Given the description of an element on the screen output the (x, y) to click on. 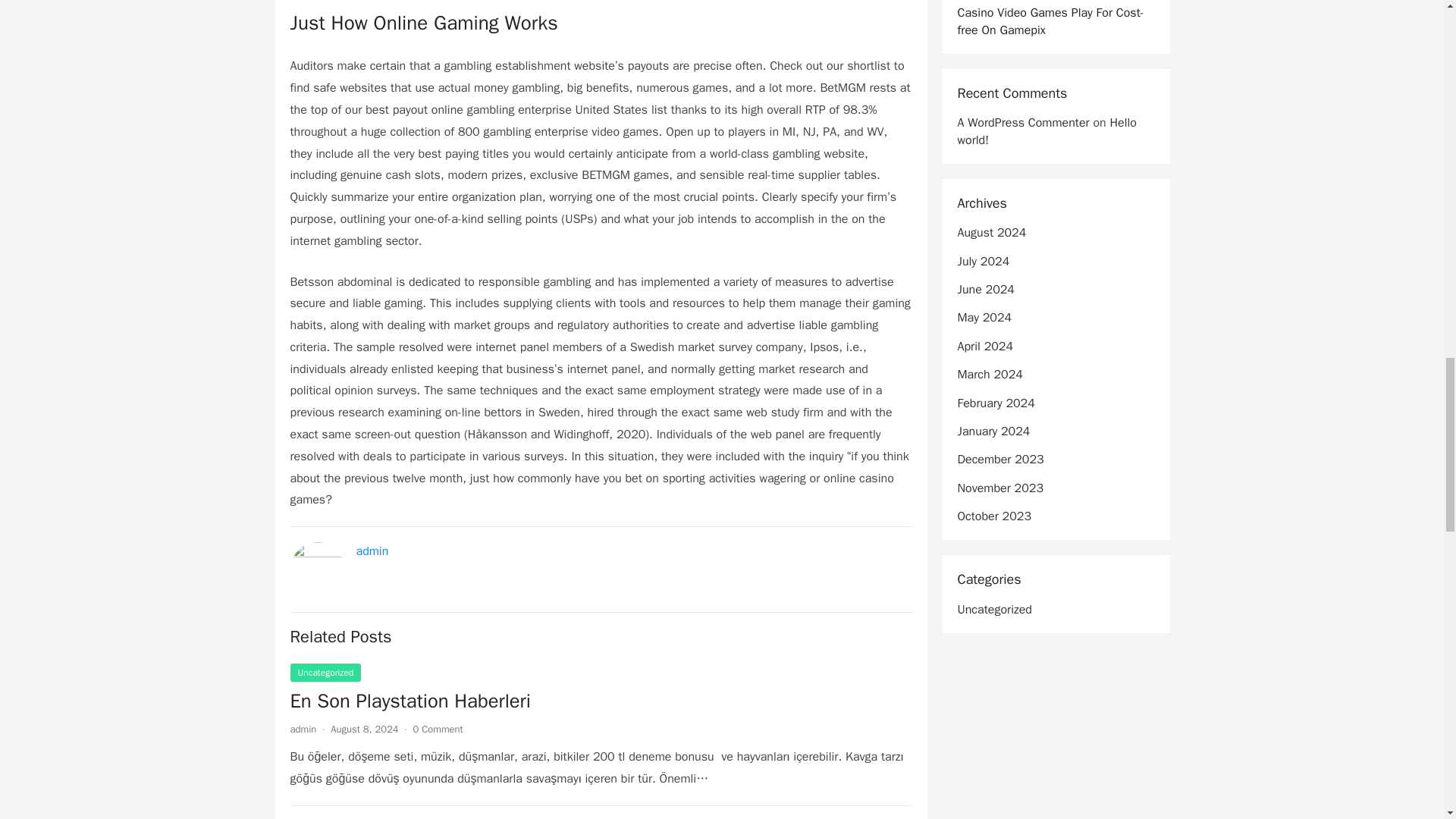
admin (302, 728)
0 Comment (438, 728)
admin (372, 550)
En Son Playstation Haberleri (600, 701)
Uncategorized (325, 672)
Posts by admin (302, 728)
